Given the description of an element on the screen output the (x, y) to click on. 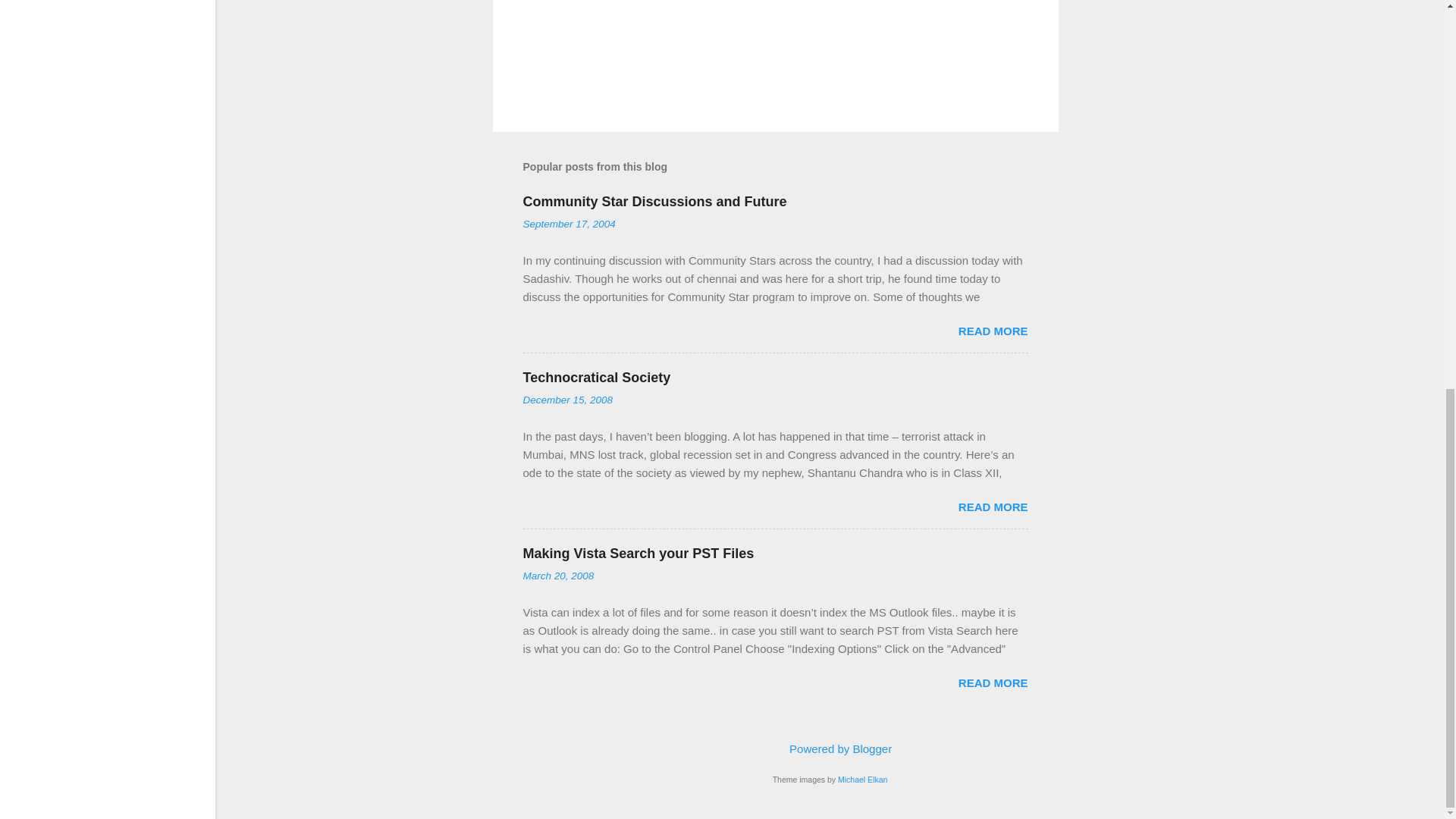
READ MORE (992, 682)
READ MORE (992, 506)
Michael Elkan (862, 778)
December 15, 2008 (567, 399)
Making Vista Search your PST Files (638, 553)
September 17, 2004 (568, 224)
March 20, 2008 (558, 575)
Community Star Discussions and Future (654, 201)
Technocratical Society (596, 377)
READ MORE (992, 330)
Powered by Blogger (829, 748)
